Given the description of an element on the screen output the (x, y) to click on. 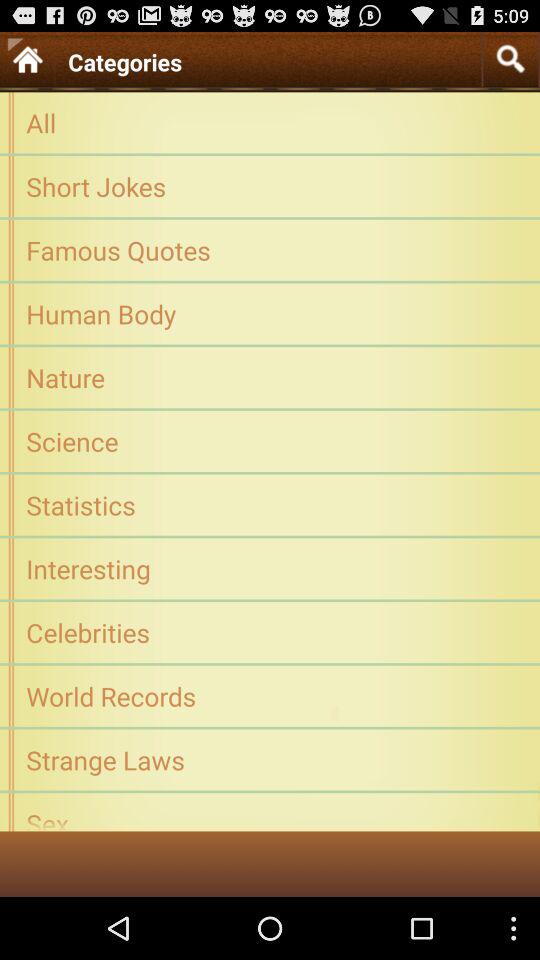
choose the icon to the right of the categories (510, 58)
